Given the description of an element on the screen output the (x, y) to click on. 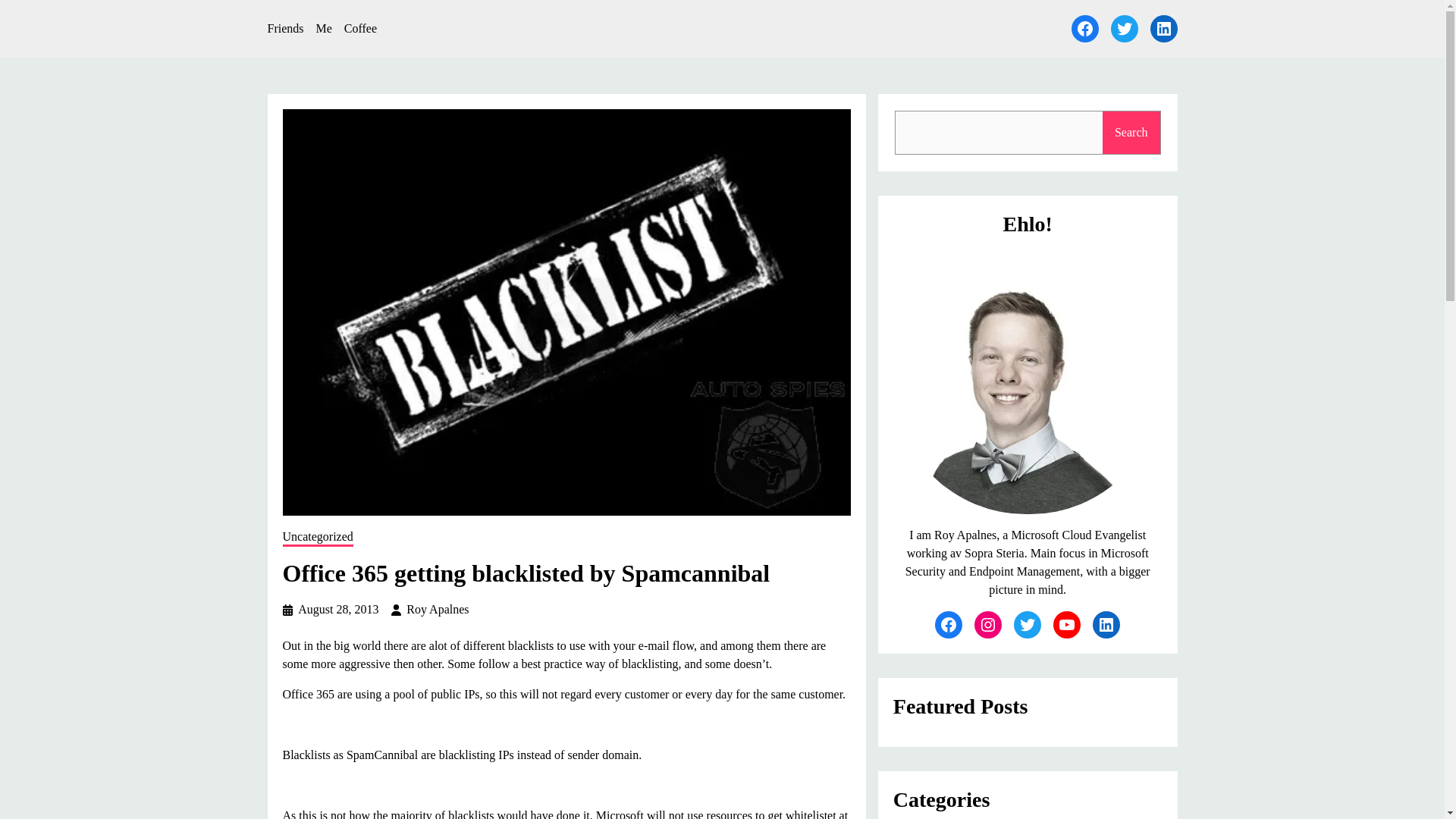
Facebook (948, 624)
Twitter (1123, 28)
LinkedIn (1163, 28)
Facebook (1083, 28)
Twitter (1027, 624)
Search (1131, 132)
LinkedIn (1106, 624)
Coffee (360, 28)
Friends (284, 28)
YouTube (1066, 624)
